Given the description of an element on the screen output the (x, y) to click on. 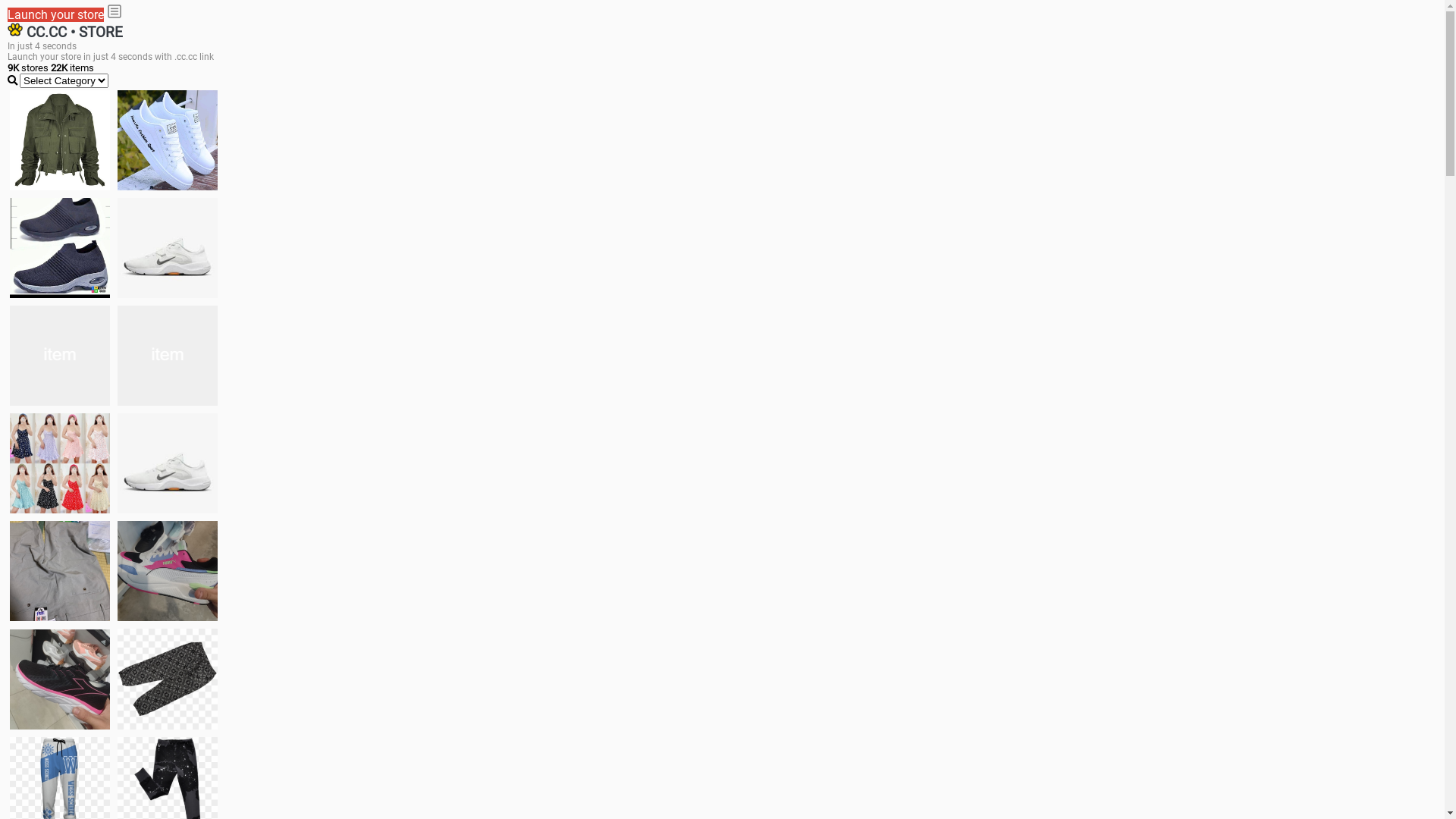
Ukay cloth Element type: hover (167, 355)
shoes for boys Element type: hover (59, 247)
Launch your store Element type: text (55, 14)
Zapatillas pumas Element type: hover (167, 570)
jacket Element type: hover (59, 140)
Shoes Element type: hover (167, 463)
Things we need Element type: hover (59, 355)
Short pant Element type: hover (167, 678)
white shoes Element type: hover (167, 140)
Zapatillas Element type: hover (59, 679)
Shoes for boys Element type: hover (167, 247)
Dress/square nect top Element type: hover (59, 463)
